Given the description of an element on the screen output the (x, y) to click on. 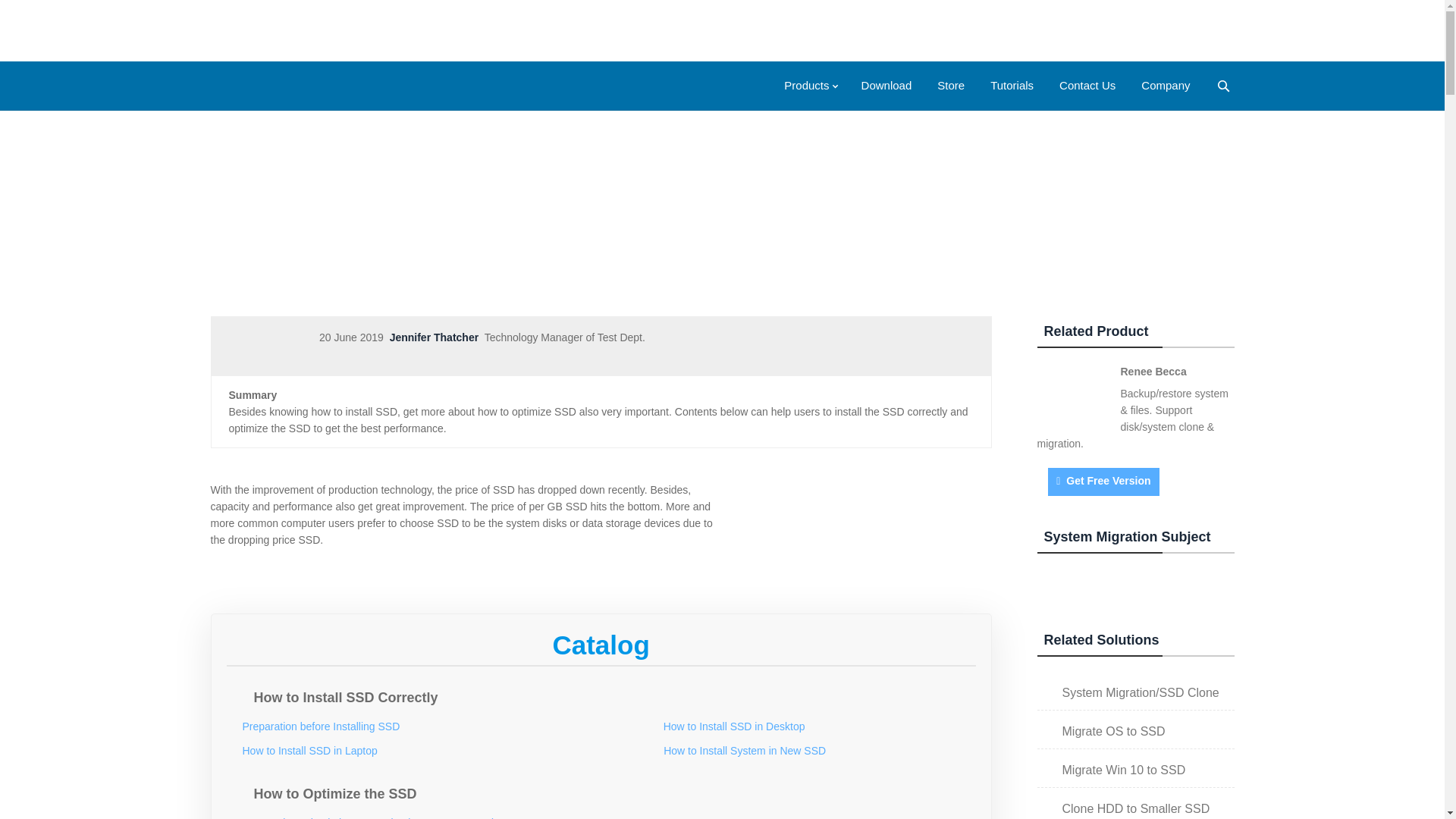
Products (809, 85)
Renee Becca (1153, 371)
